Given the description of an element on the screen output the (x, y) to click on. 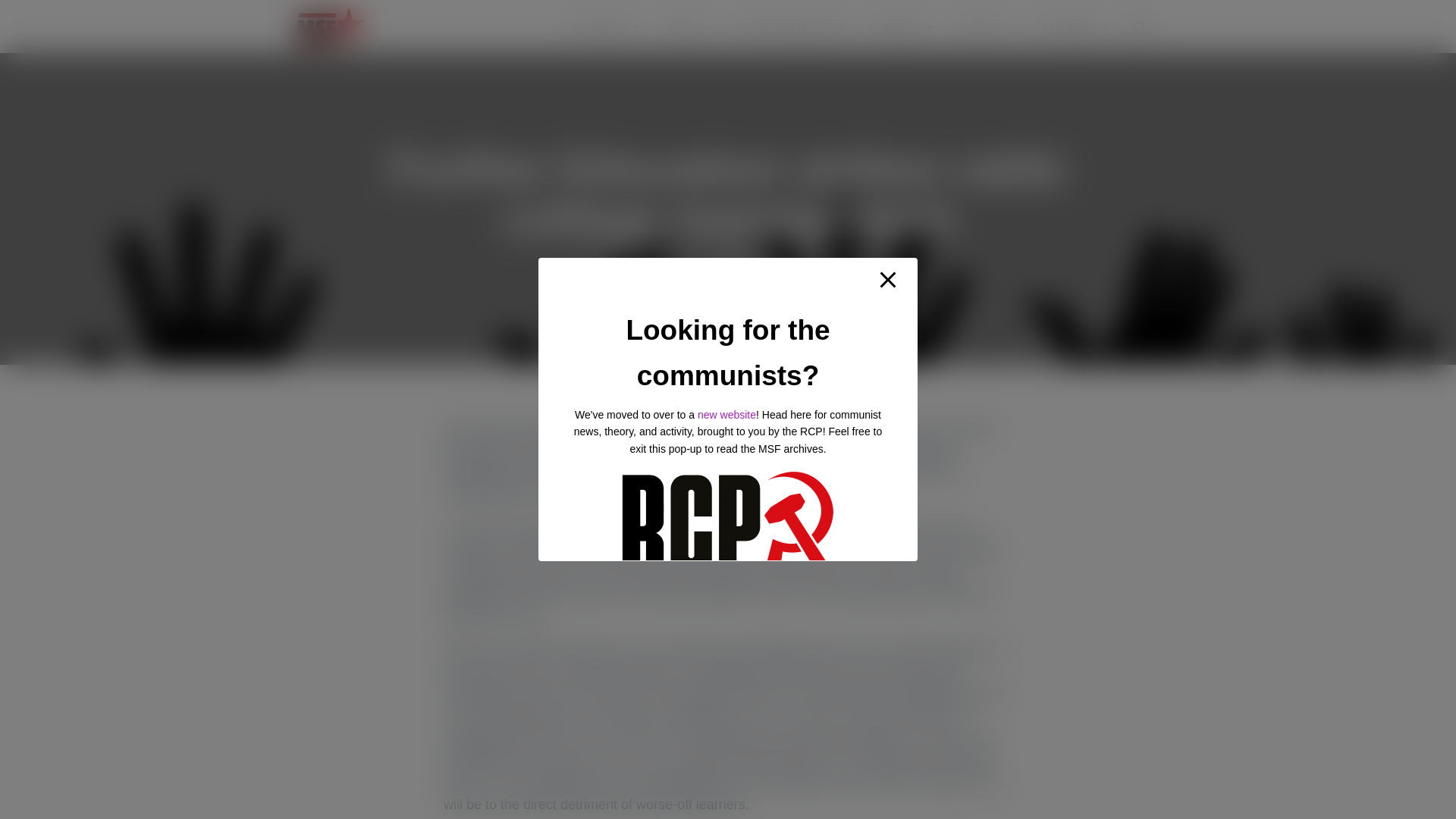
Marxist Student Federation (330, 26)
CONTACT US (982, 26)
CAMPAIGNS (900, 26)
WHO WE ARE (604, 26)
SOCIAL MEDIA (1070, 26)
Search (3, 16)
REVOLUTION MAGAZINE (791, 26)
Articles (687, 26)
ARTICLES (687, 26)
Who we are (604, 26)
